Given the description of an element on the screen output the (x, y) to click on. 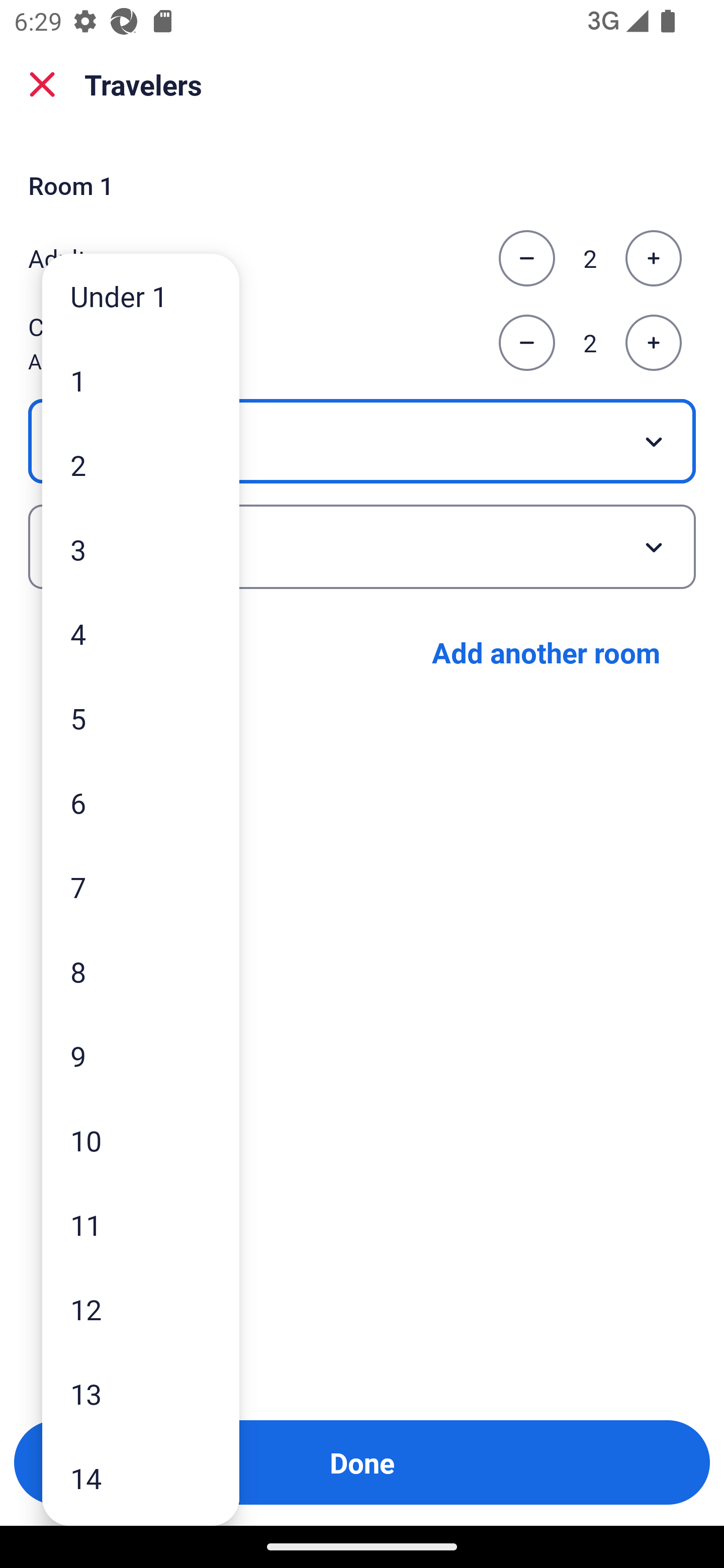
Under 1 (140, 296)
1 (140, 380)
2 (140, 464)
3 (140, 548)
4 (140, 633)
5 (140, 717)
6 (140, 802)
7 (140, 887)
8 (140, 970)
9 (140, 1054)
10 (140, 1139)
11 (140, 1224)
12 (140, 1308)
13 (140, 1393)
14 (140, 1478)
